Given the description of an element on the screen output the (x, y) to click on. 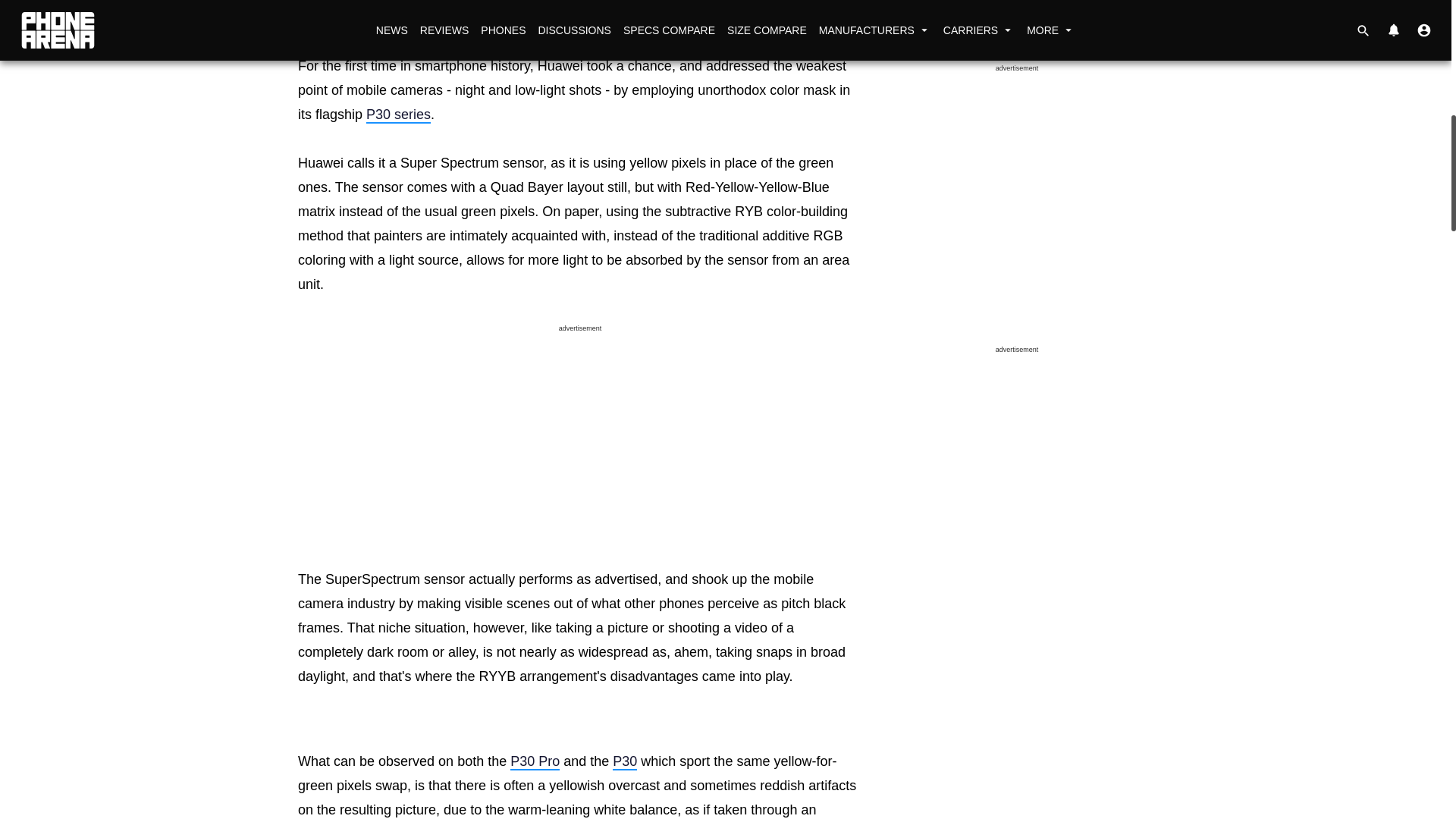
Huawei P30 Pro (535, 761)
Huawei P30 (624, 761)
